Given the description of an element on the screen output the (x, y) to click on. 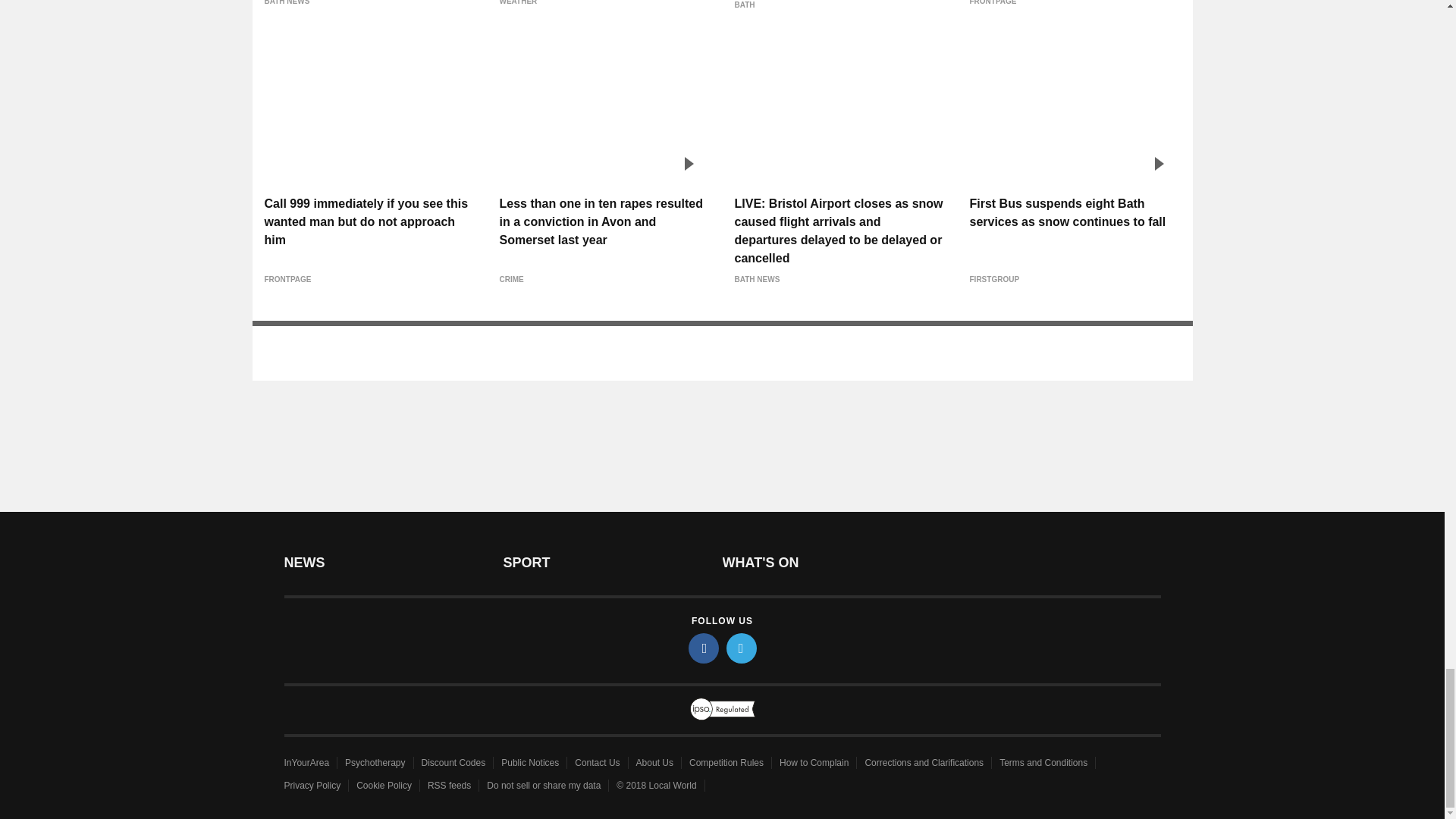
twitter (741, 648)
facebook (703, 648)
